Given the description of an element on the screen output the (x, y) to click on. 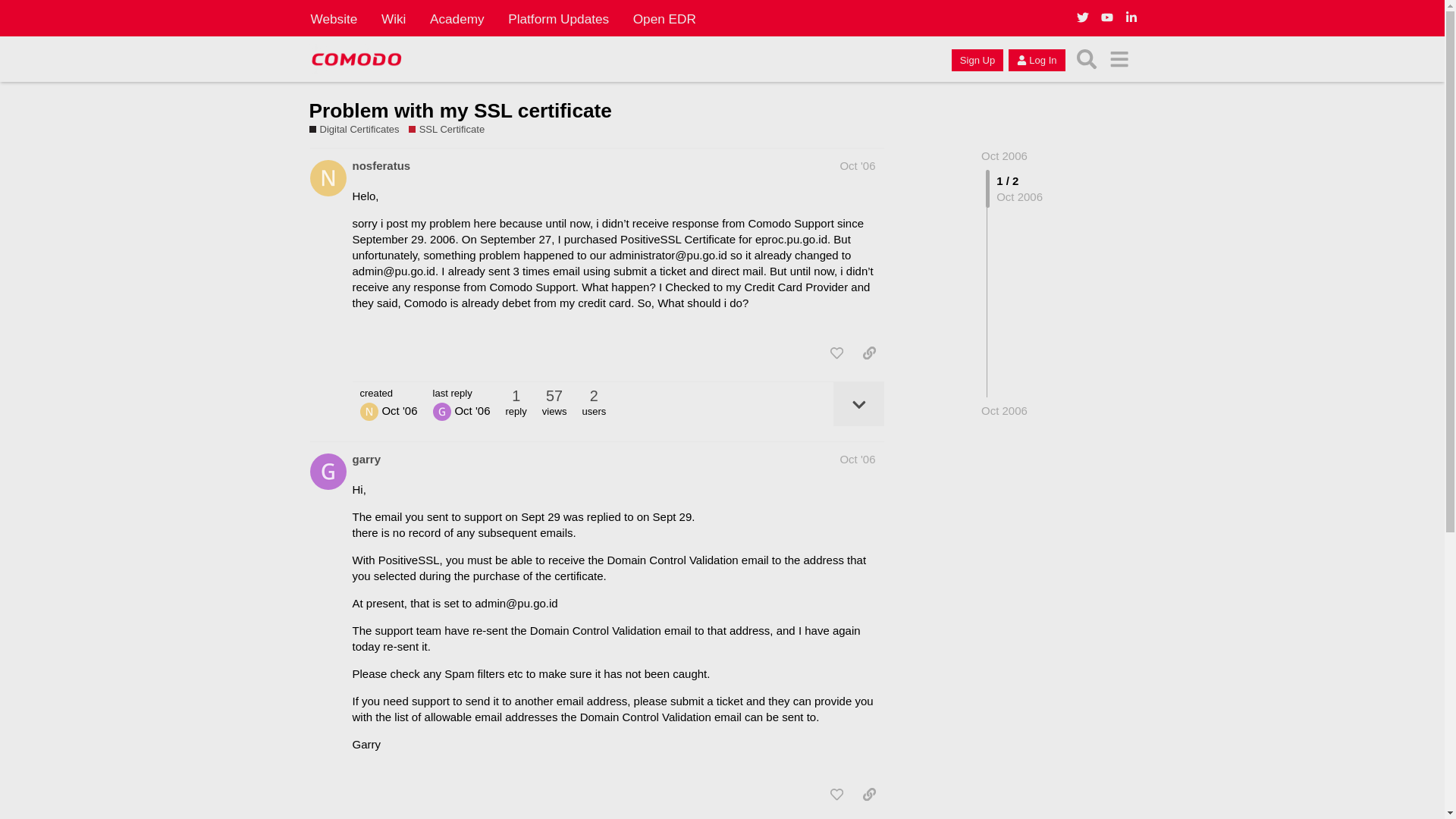
Oct '06 (857, 164)
share a link to this post (869, 353)
Search (1086, 59)
Oct 2006 (1004, 155)
Oct 2006 (1004, 155)
Website (333, 18)
menu (1119, 59)
Platform Updates (558, 18)
Open EDR (664, 18)
garry (366, 458)
